Given the description of an element on the screen output the (x, y) to click on. 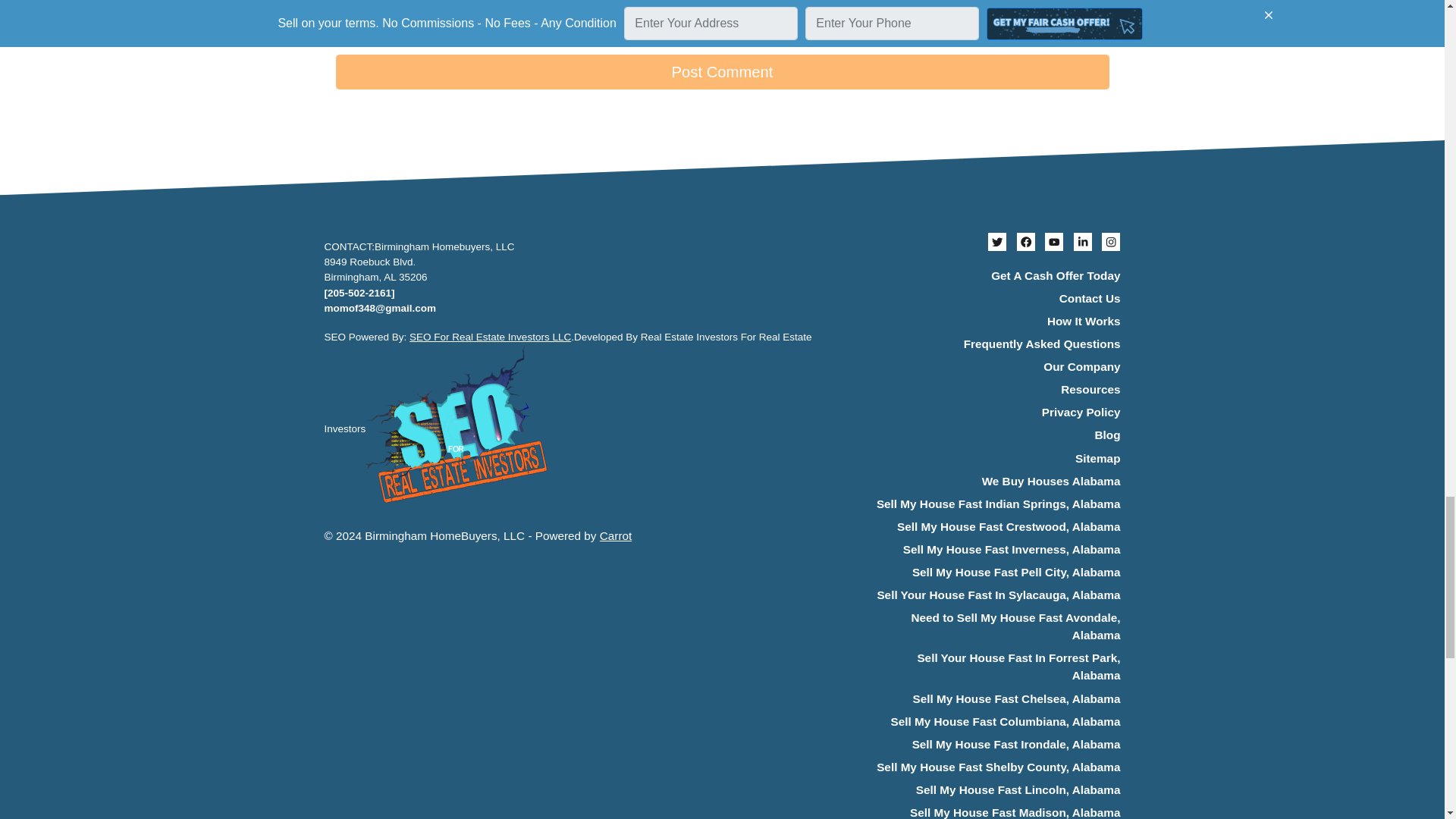
Resources (995, 390)
Post Comment (721, 71)
Resources (995, 390)
LinkedIn (1083, 241)
Privacy Policy (995, 413)
How It Works (995, 321)
Blog (995, 436)
YouTube (1053, 241)
Blog (995, 436)
Get A Cash Offer Today (995, 275)
